Given the description of an element on the screen output the (x, y) to click on. 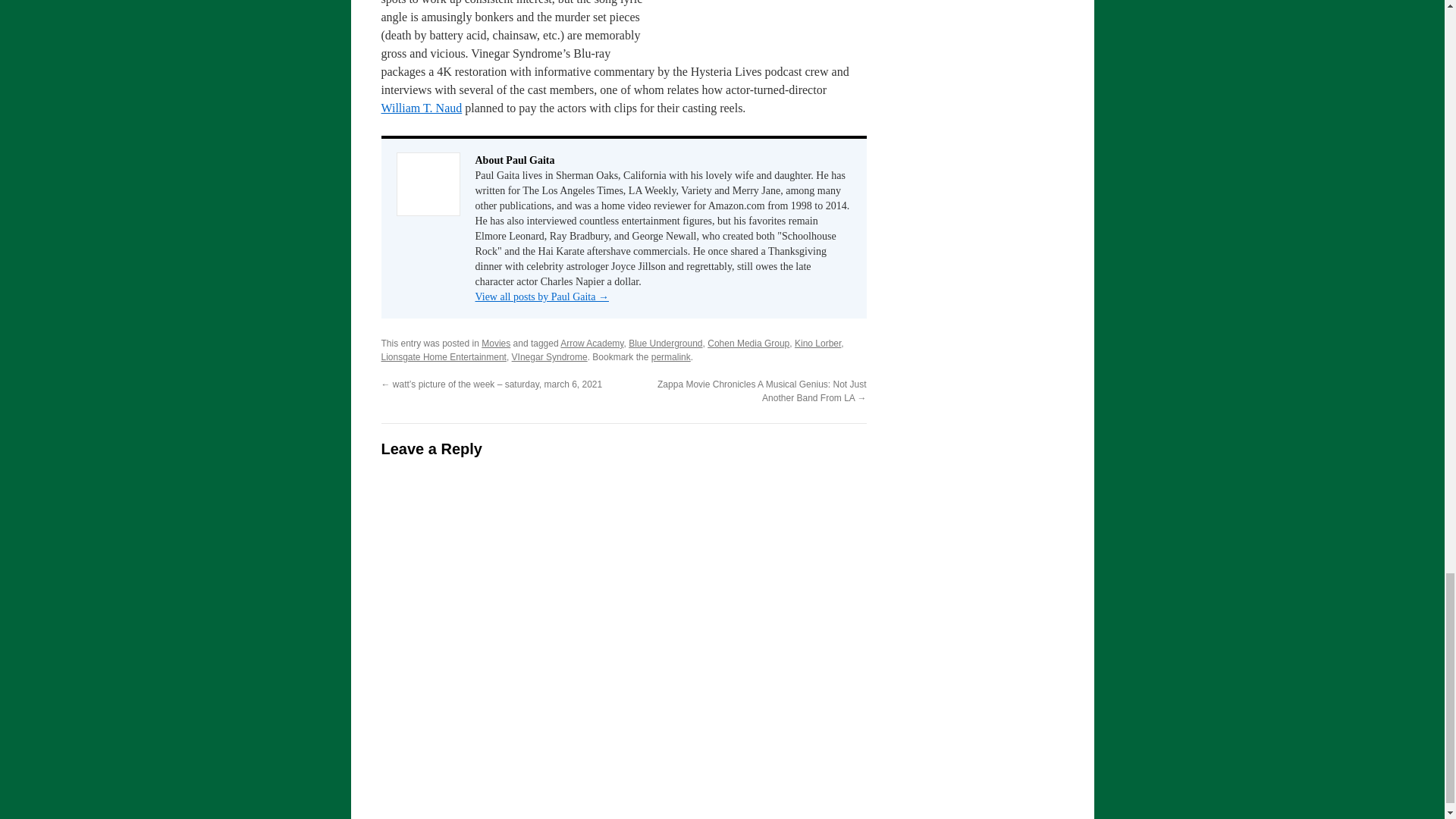
Permalink to Movies Till Dawn: Crime and Punishment, USA (670, 357)
